Given the description of an element on the screen output the (x, y) to click on. 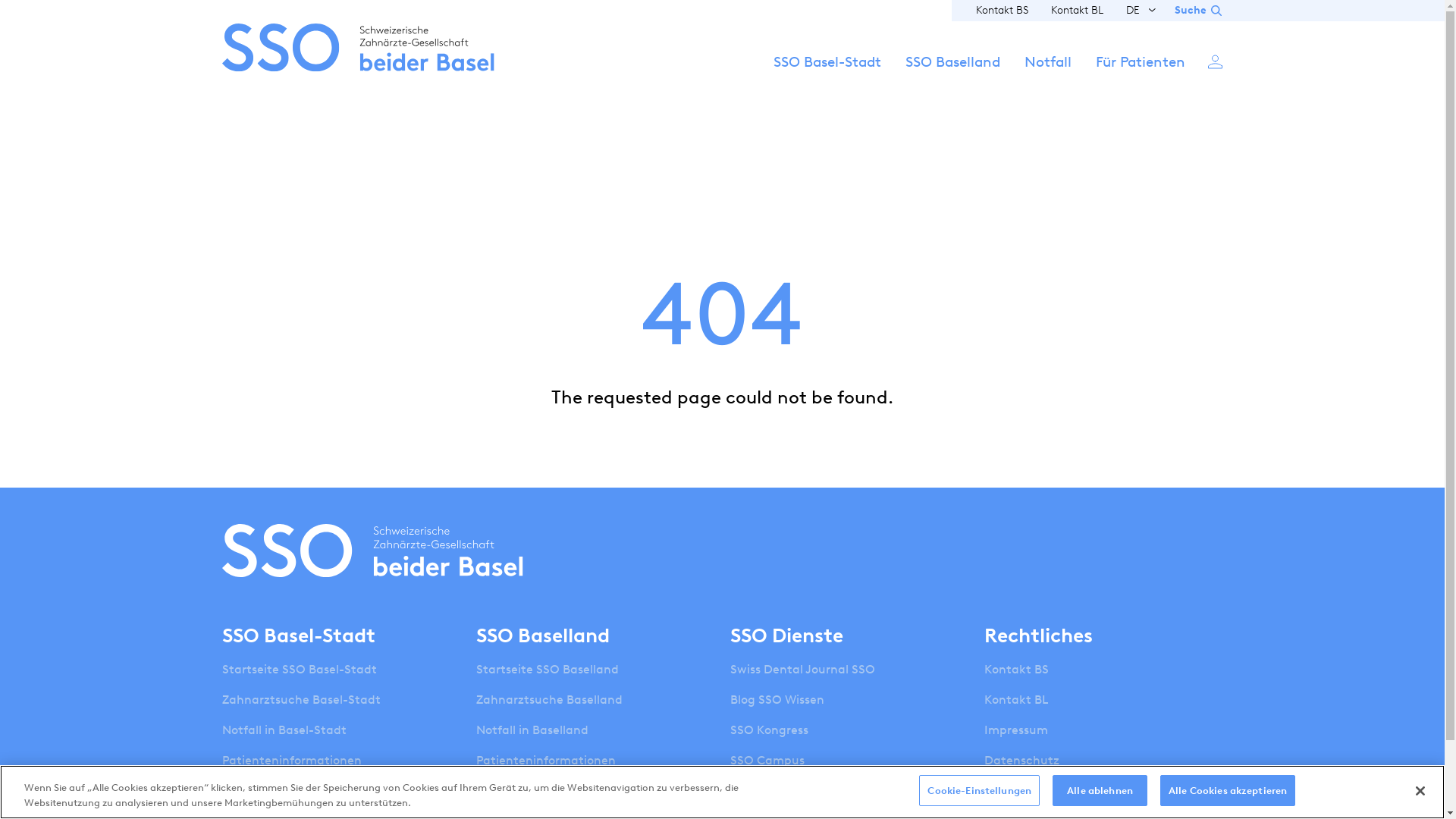
Berufsbildung Element type: text (261, 790)
Patienteninformationen Element type: text (545, 760)
Alle ablehnen Element type: text (1099, 790)
Patienteninformationen Element type: text (290, 760)
Kontakt BL Element type: text (1016, 699)
Kontakt BS Element type: text (1016, 669)
Notfall in Baselland Element type: text (532, 729)
Blog SSO Wissen Element type: text (777, 699)
SSO Baselland Element type: text (952, 75)
Startseite SSO Baselland Element type: text (547, 669)
Datenschutz Element type: text (1021, 760)
Suche Element type: text (1197, 9)
Swiss Dental Journal SSO Element type: text (802, 669)
SSO Basel-Stadt Element type: text (827, 75)
SSO Campus Element type: text (767, 760)
Notfall in Basel-Stadt Element type: text (283, 729)
Zahnarztsuche Basel-Stadt Element type: text (300, 699)
Zahnarztsuche Baselland Element type: text (549, 699)
DE Element type: text (1132, 9)
Kontakt BS Element type: text (1001, 9)
Kontakt BL Element type: text (1077, 9)
Berufsbildung Element type: text (516, 790)
Alle Cookies akzeptieren Element type: text (1227, 790)
Startseite SSO Basel-Stadt Element type: text (298, 669)
Apply Element type: text (947, 437)
Skip to main content Element type: text (0, 0)
SSO Kongress Element type: text (769, 729)
Cookie-Einstellungen Element type: text (979, 790)
Anmelden Element type: text (1214, 61)
Notfall Element type: text (1046, 75)
Impressum Element type: text (1016, 729)
